Given the description of an element on the screen output the (x, y) to click on. 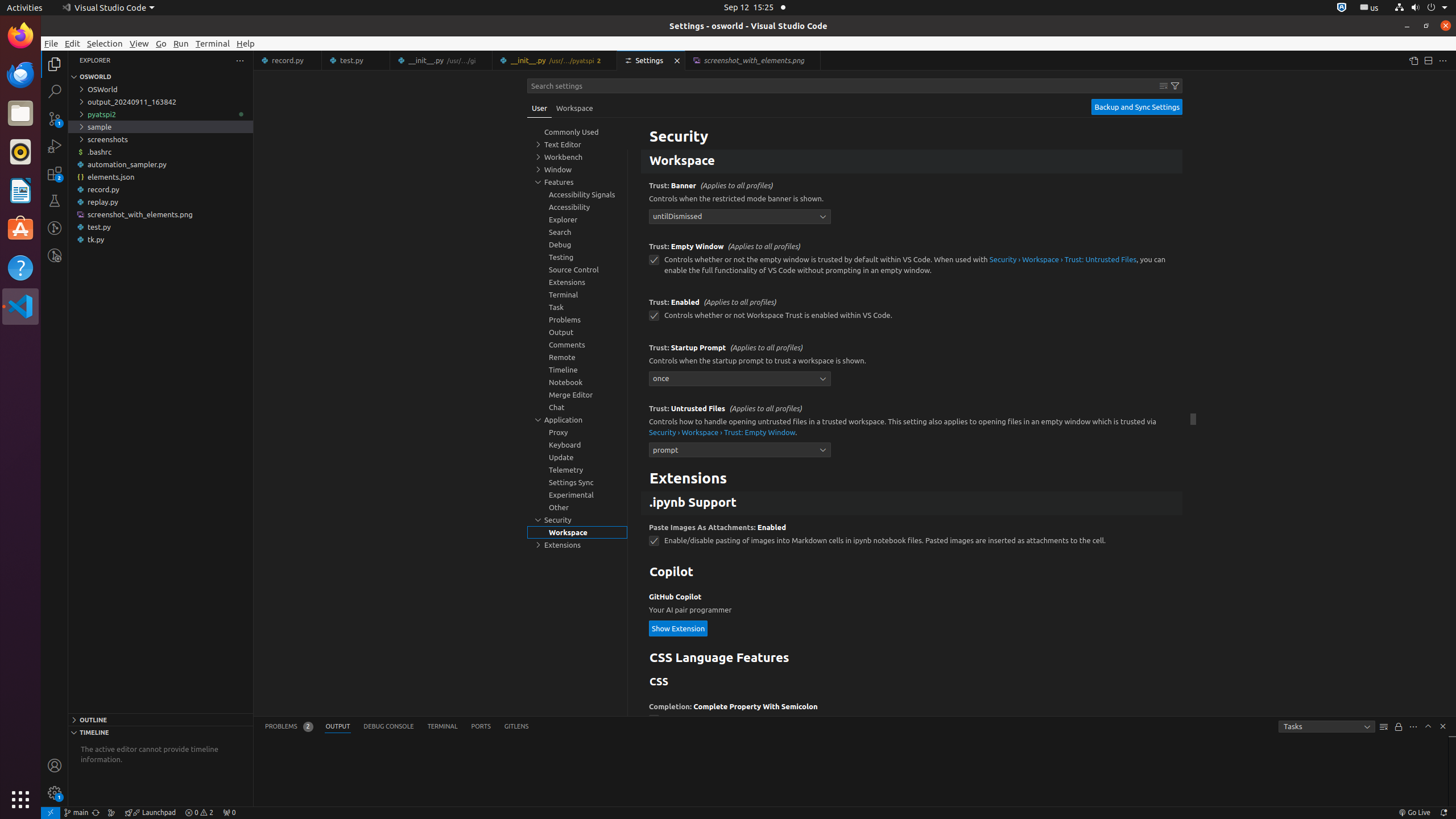
Debug Console (Ctrl+Shift+Y) Element type: page-tab (388, 726)
Ports Element type: page-tab (480, 726)
